Given the description of an element on the screen output the (x, y) to click on. 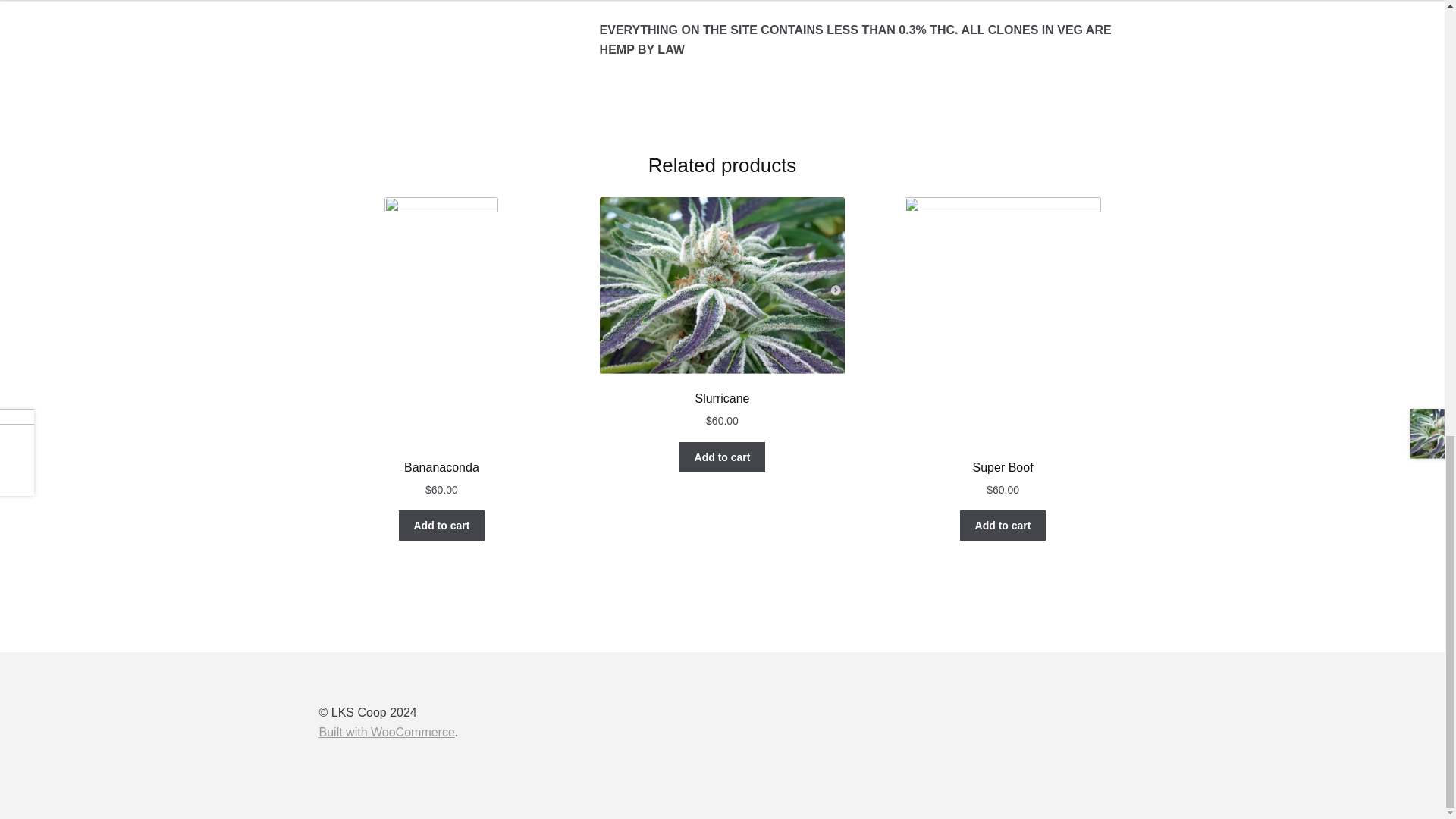
Add to cart (1002, 525)
Built with WooCommerce (386, 731)
WooCommerce - The Best eCommerce Platform for WordPress (386, 731)
Add to cart (441, 525)
Add to cart (722, 457)
